Given the description of an element on the screen output the (x, y) to click on. 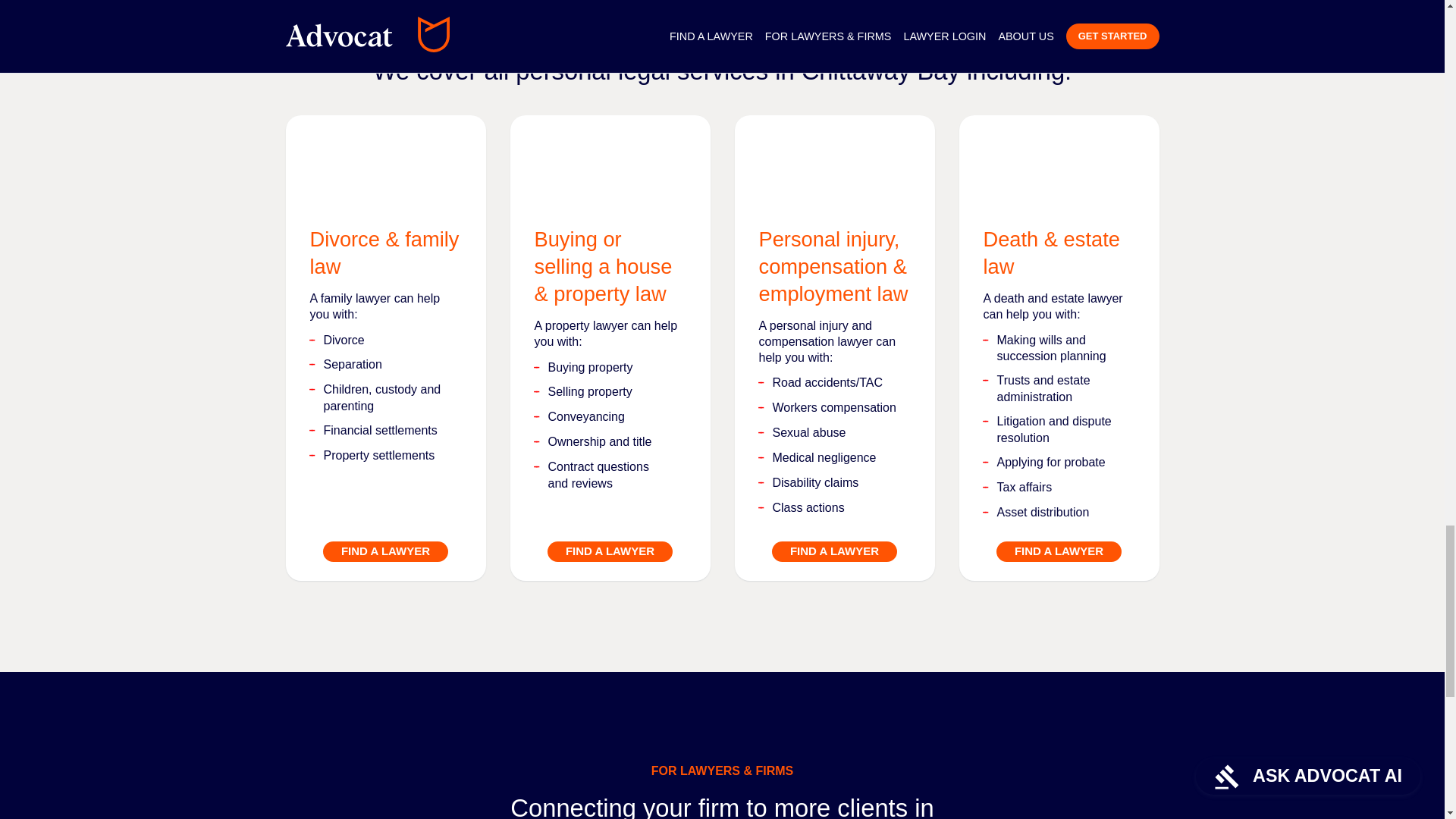
FIND A LAWYER (1058, 551)
FIND A LAWYER (609, 551)
FIND A LAWYER (833, 551)
FIND A LAWYER (385, 551)
